Given the description of an element on the screen output the (x, y) to click on. 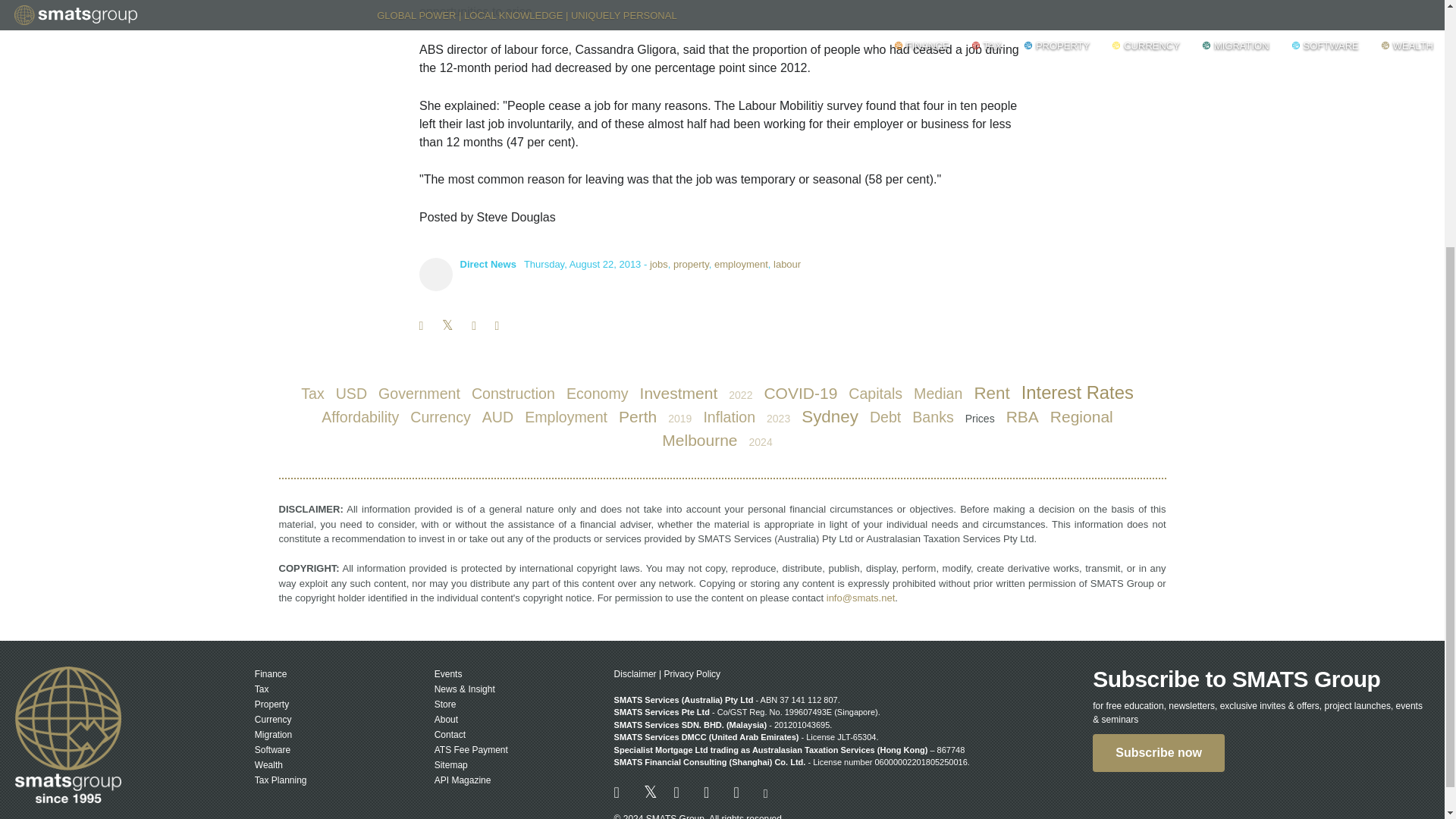
Economy (597, 393)
2022 (740, 394)
USD (351, 393)
tax (311, 393)
Government (419, 393)
Construction (513, 393)
employment (741, 264)
COVID-19 (800, 393)
USD (351, 393)
investment (679, 393)
